Given the description of an element on the screen output the (x, y) to click on. 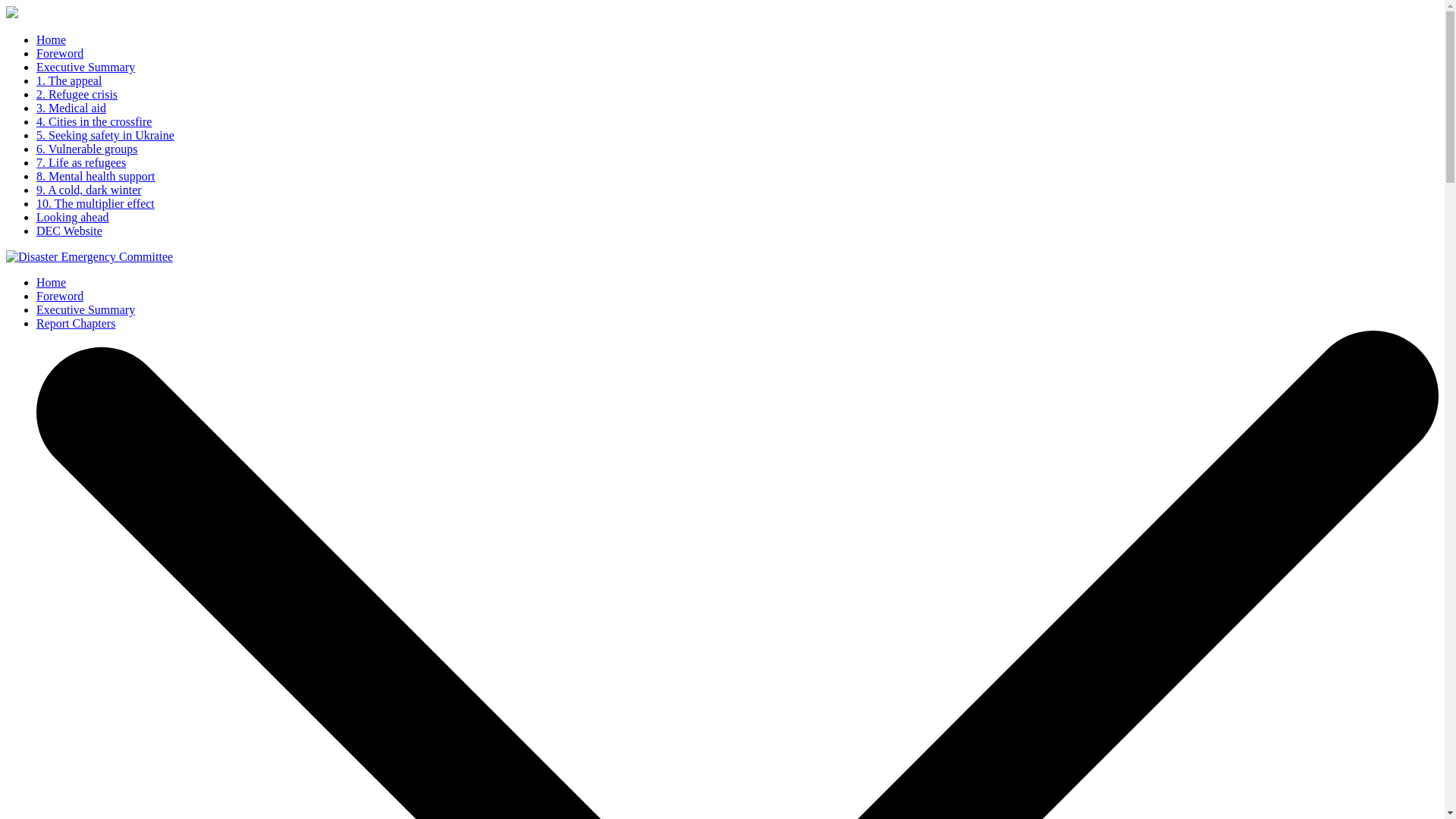
Looking ahead (72, 216)
4. Cities in the crossfire (93, 121)
2. Refugee crisis (76, 93)
DEC Website (68, 230)
Foreword (59, 295)
Foreword (59, 52)
1. The appeal (68, 80)
Home (50, 39)
5. Seeking safety in Ukraine (105, 134)
Executive Summary (85, 66)
